Given the description of an element on the screen output the (x, y) to click on. 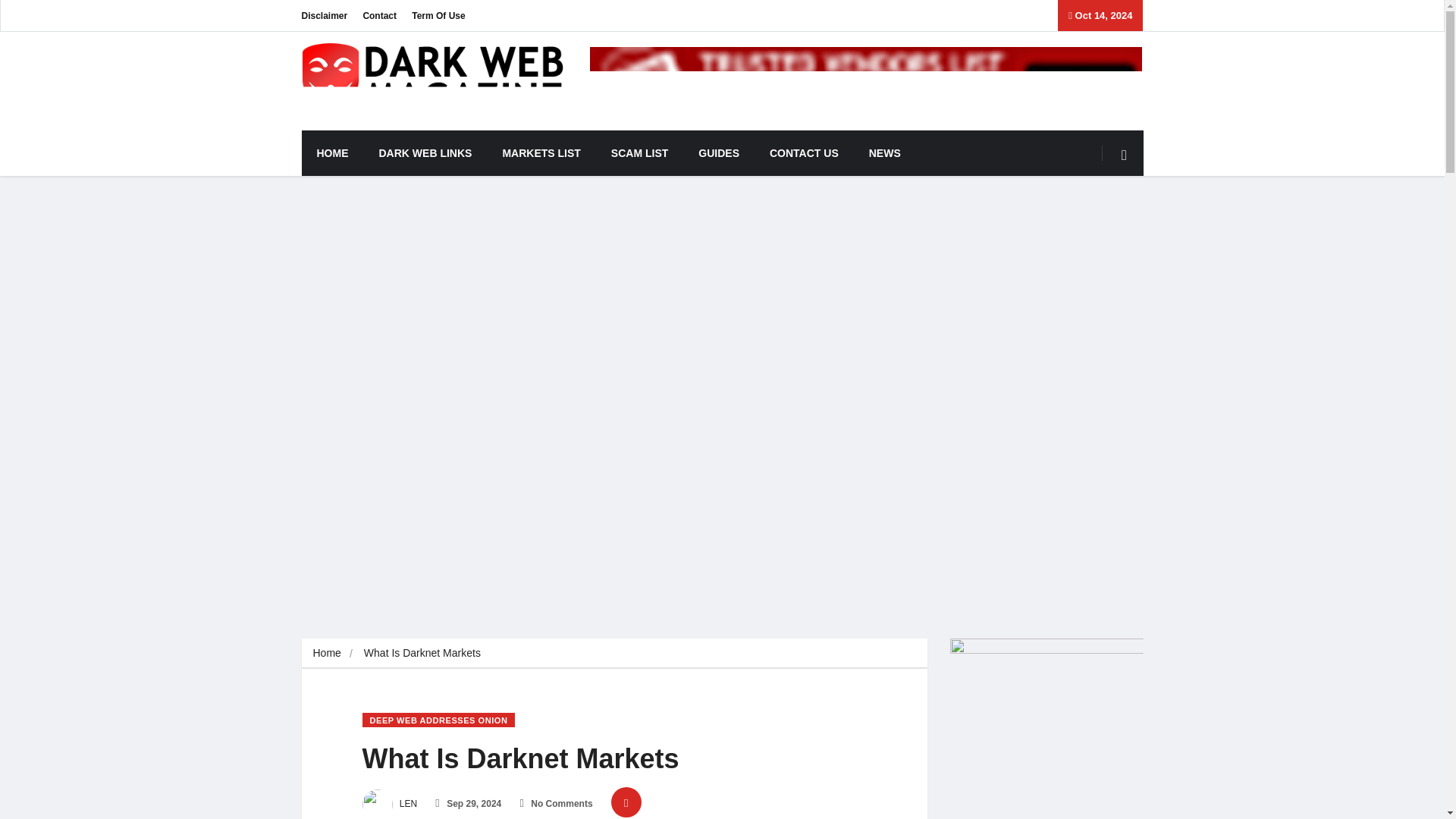
Disclaimer (324, 15)
Home (326, 653)
HOME (332, 153)
DEEP WEB ADDRESSES ONION (438, 719)
Contact (379, 15)
Term Of Use (438, 15)
CONTACT US (803, 153)
GUIDES (718, 153)
NEWS (884, 153)
LEN (389, 803)
